Given the description of an element on the screen output the (x, y) to click on. 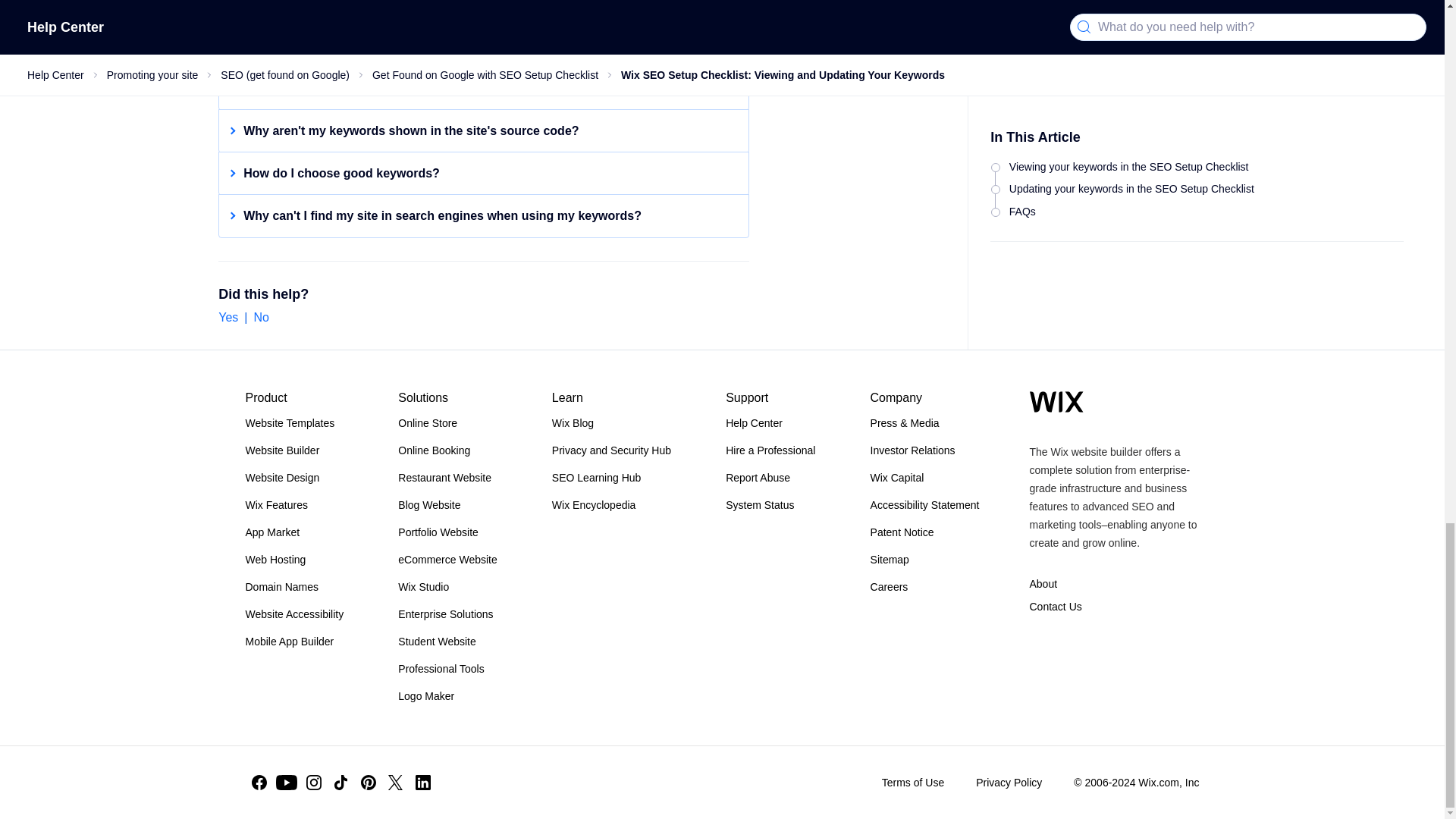
Wix.com (1056, 401)
Facebook (259, 782)
TikTok (341, 782)
Twitter (395, 782)
Instagram (313, 782)
Youtube (286, 782)
Linkedin (422, 782)
Pinterest (368, 782)
